Given the description of an element on the screen output the (x, y) to click on. 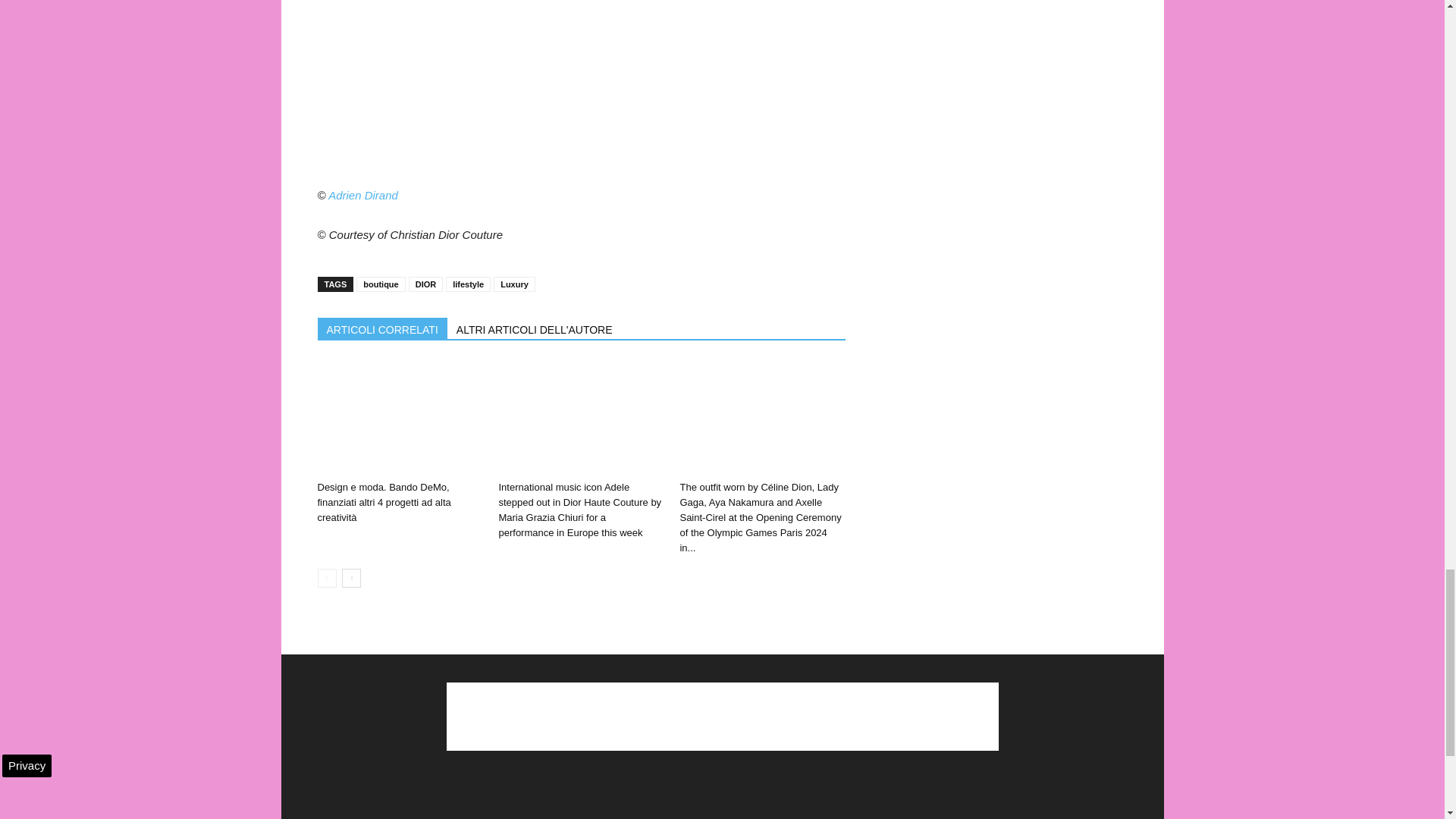
boutique (380, 283)
Adrien Dirand (363, 195)
lifestyle (467, 283)
DIOR (426, 283)
